Given the description of an element on the screen output the (x, y) to click on. 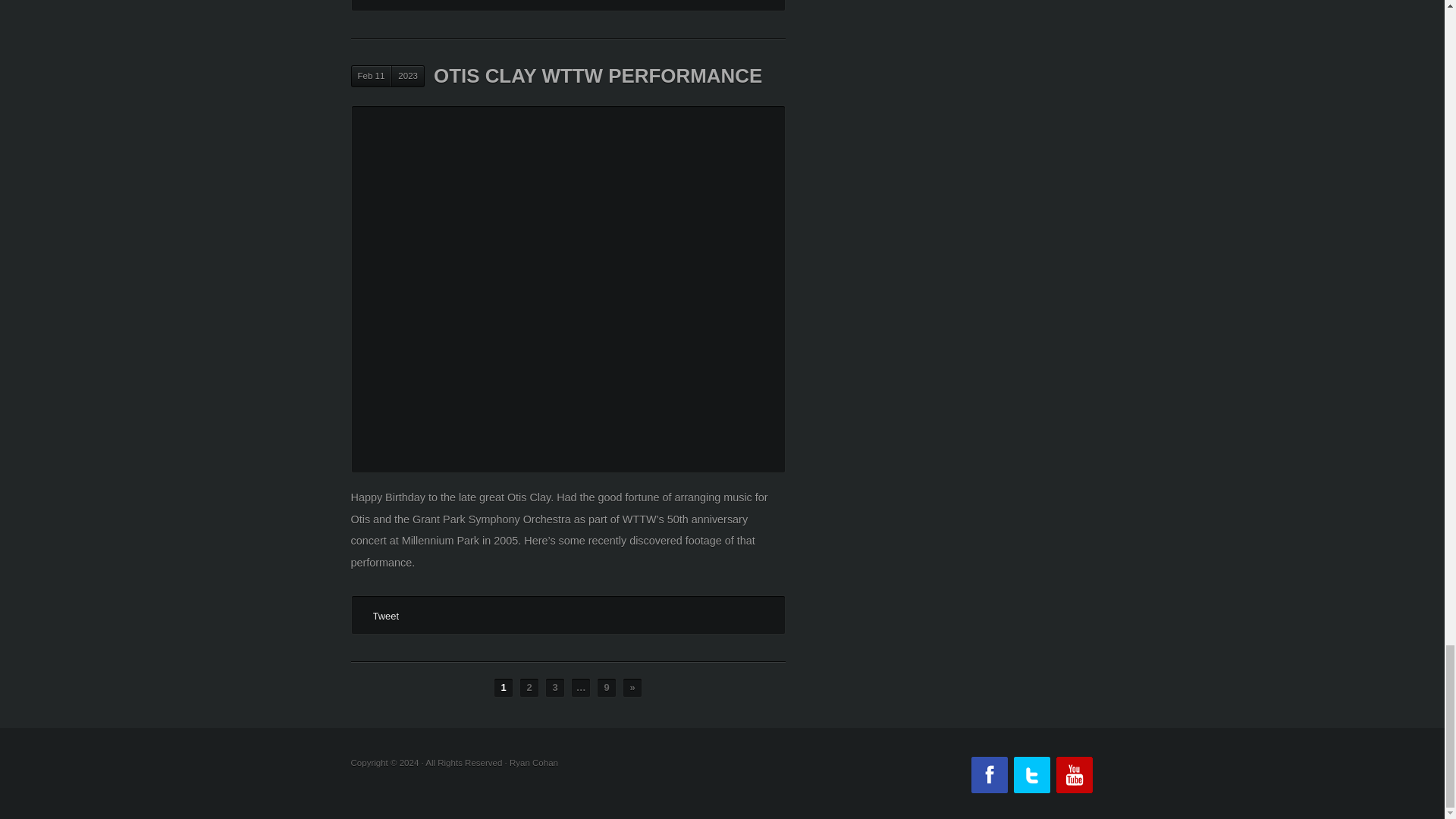
Tweet (385, 615)
OTIS CLAY WTTW PERFORMANCE (597, 75)
YouTube video player (567, 409)
2 (528, 687)
9 (605, 687)
3 (554, 687)
